Given the description of an element on the screen output the (x, y) to click on. 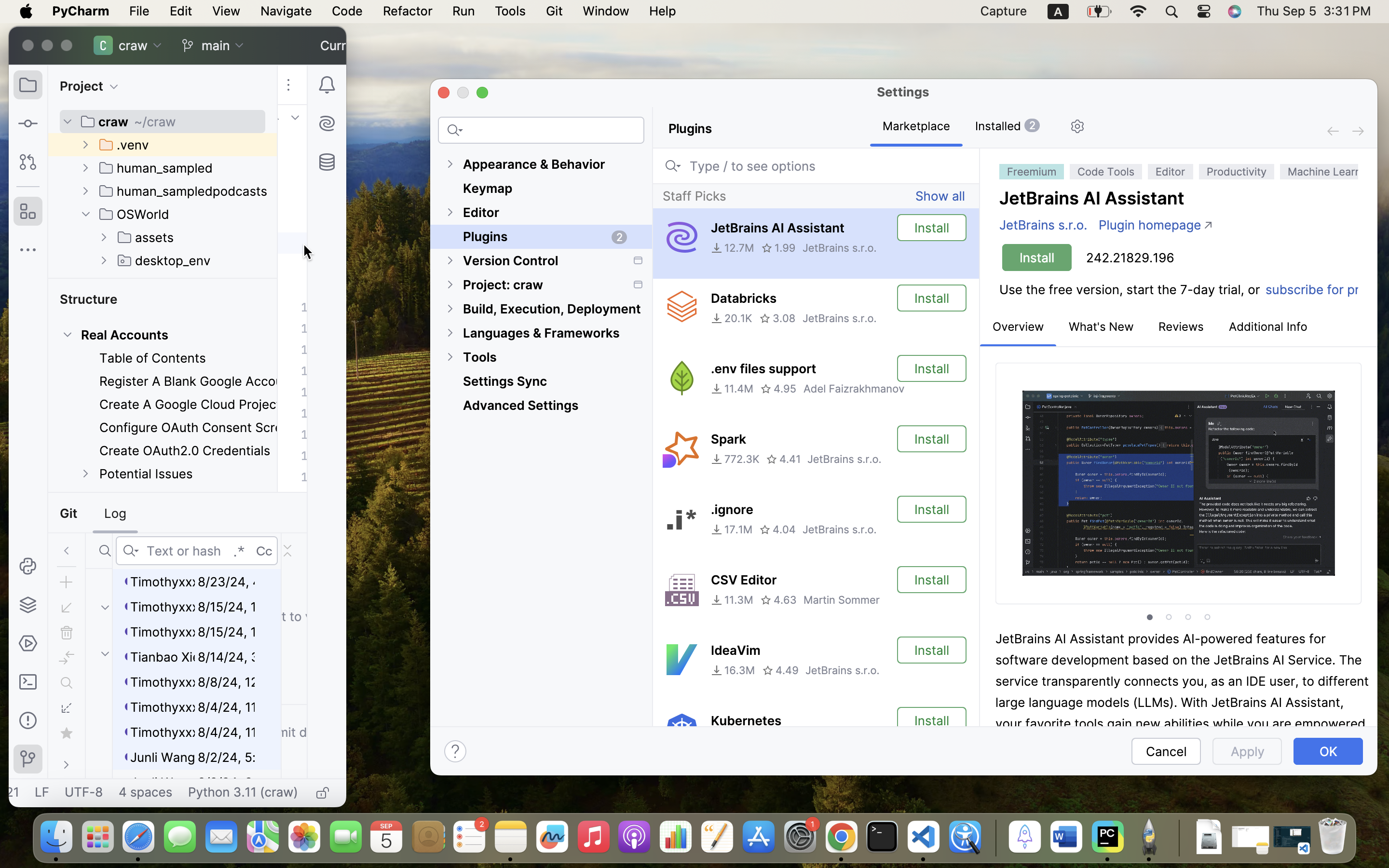
0 Element type: AXRadioButton (1267, 327)
.ignore Element type: AXStaticText (731, 509)
<AXUIElement 0x12c778890> {pid=4021} Element type: AXTabGroup (962, 127)
4.04 Element type: AXStaticText (777, 529)
True Element type: AXRadioButton (916, 126)
